Given the description of an element on the screen output the (x, y) to click on. 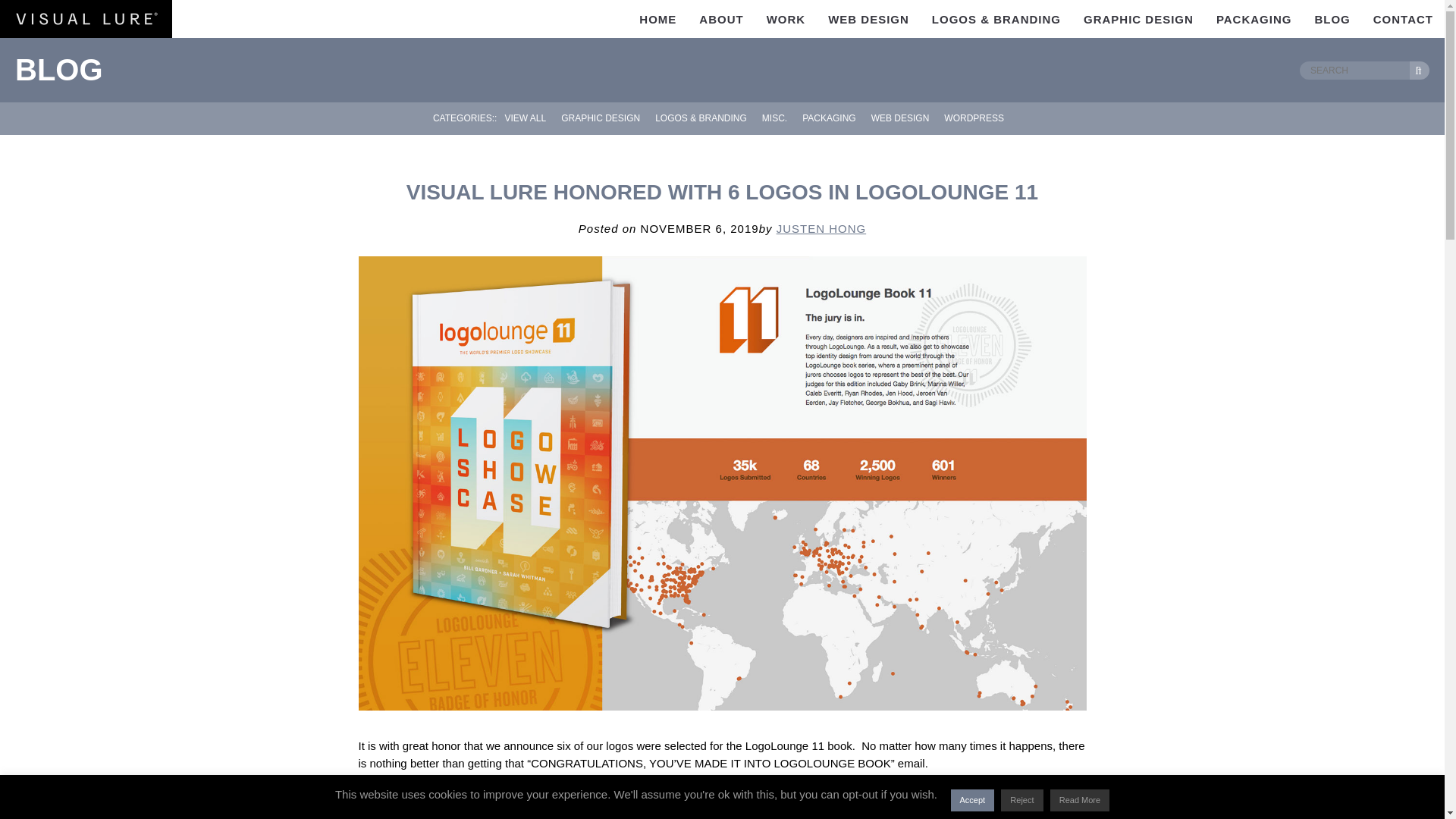
WEB DESIGN (868, 18)
BLOG (1332, 18)
WORK (785, 18)
JUSTEN HONG (821, 228)
GRAPHIC DESIGN (1138, 18)
MISC. (774, 118)
HOME (657, 18)
PACKAGING (1254, 18)
GRAPHIC DESIGN (600, 118)
WEB DESIGN (900, 118)
